Given the description of an element on the screen output the (x, y) to click on. 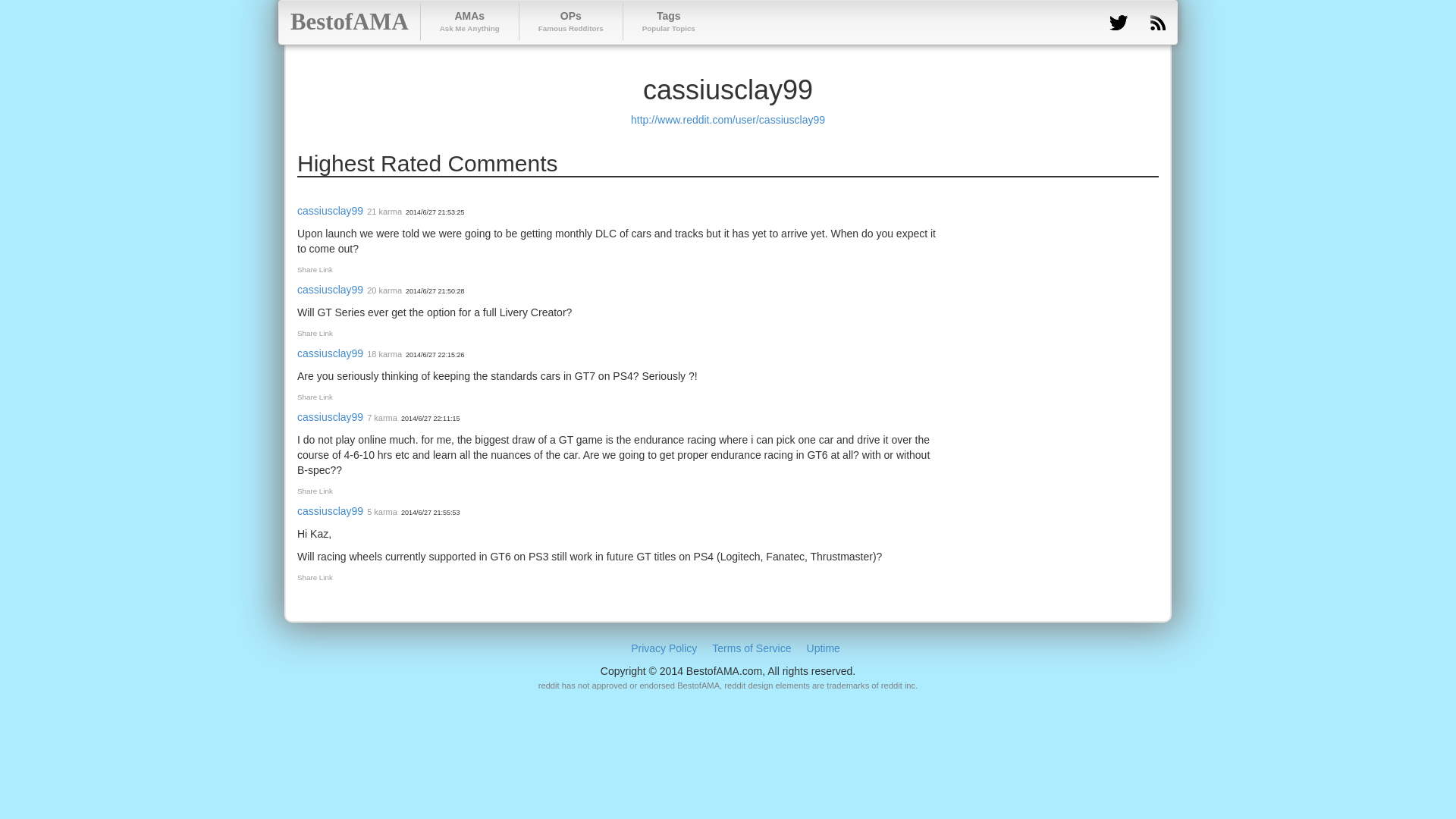
Share Link (315, 490)
Uptime (823, 648)
Terms of Service (750, 648)
cassiusclay99 (570, 21)
Share Link (329, 289)
cassiusclay99 (315, 269)
Share Link (329, 353)
cassiusclay99 (315, 577)
cassiusclay99 (329, 210)
